Given the description of an element on the screen output the (x, y) to click on. 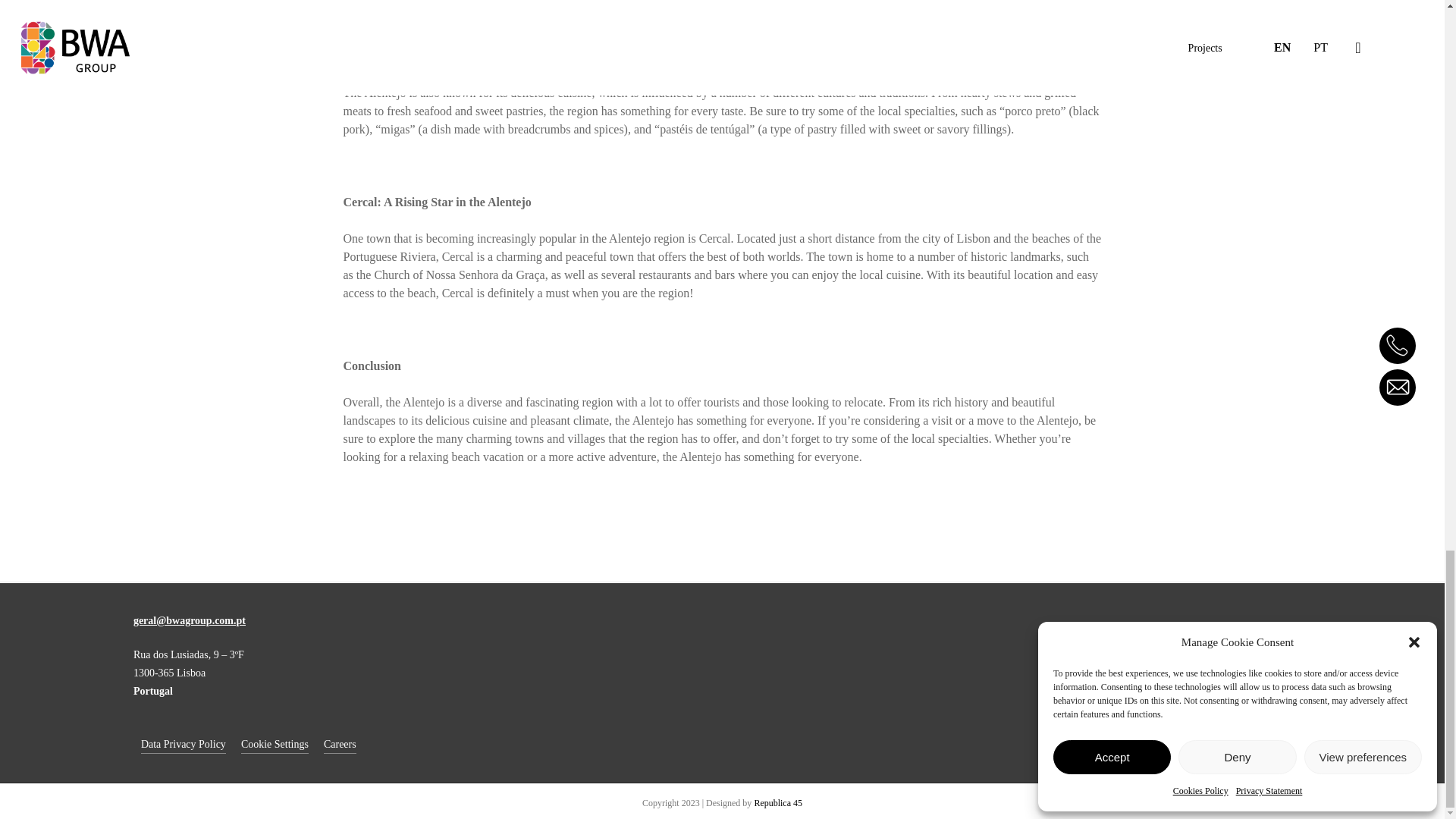
Republica 45 (778, 802)
Careers (339, 744)
Cookie Settings (274, 744)
Data Privacy Policy (183, 744)
